Given the description of an element on the screen output the (x, y) to click on. 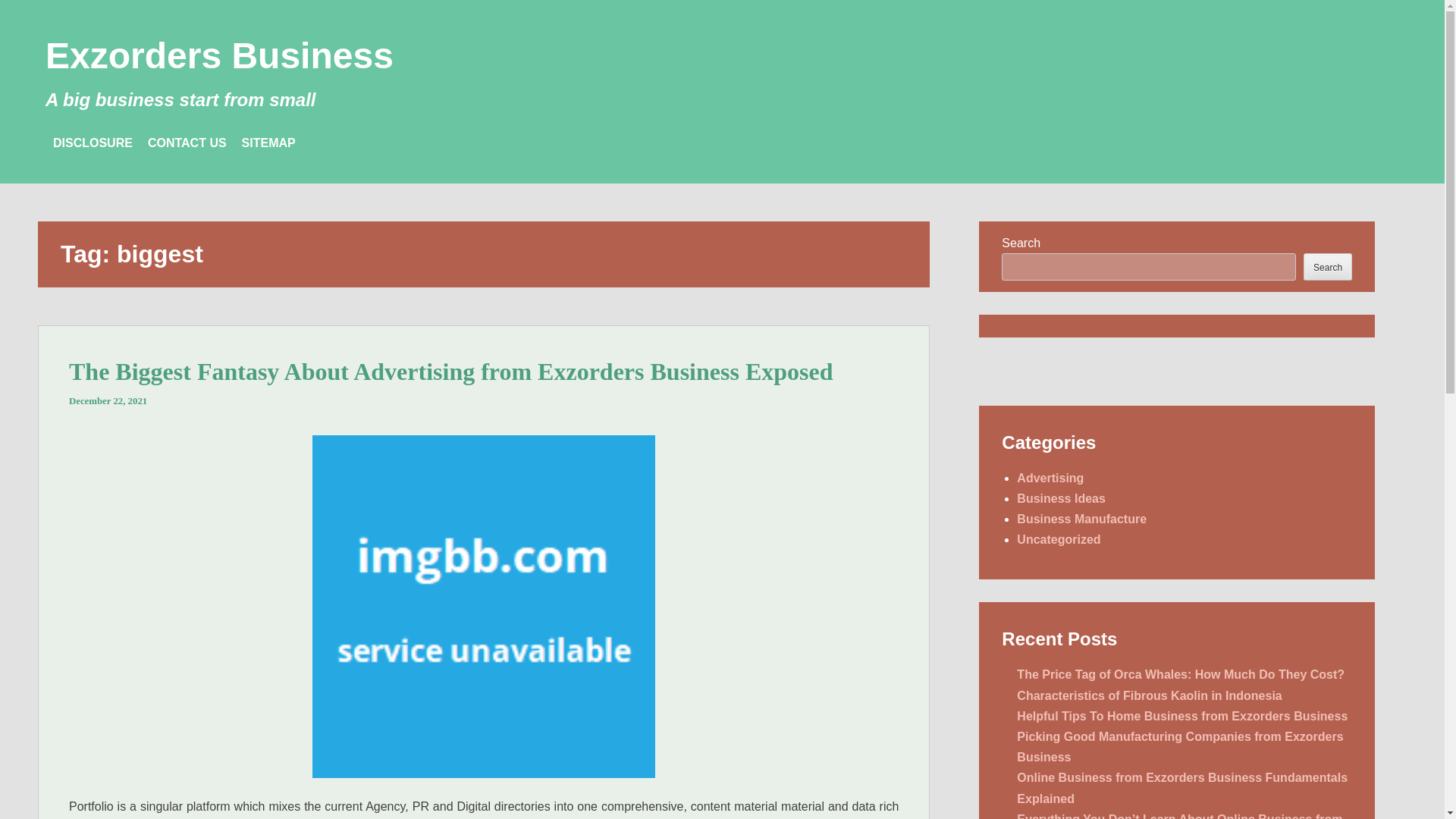
Search (1327, 266)
December 22, 2021 (107, 400)
DISCLOSURE (92, 142)
SITEMAP (268, 142)
CONTACT US (187, 142)
Exzorders Business (219, 56)
Advertising (1049, 477)
Business Ideas (1060, 498)
The Price Tag of Orca Whales: How Much Do They Cost? (1179, 674)
Characteristics of Fibrous Kaolin in Indonesia (1148, 695)
Business Manufacture (1081, 518)
Uncategorized (1058, 539)
Picking Good Manufacturing Companies from Exzorders Business (1179, 746)
